Given the description of an element on the screen output the (x, y) to click on. 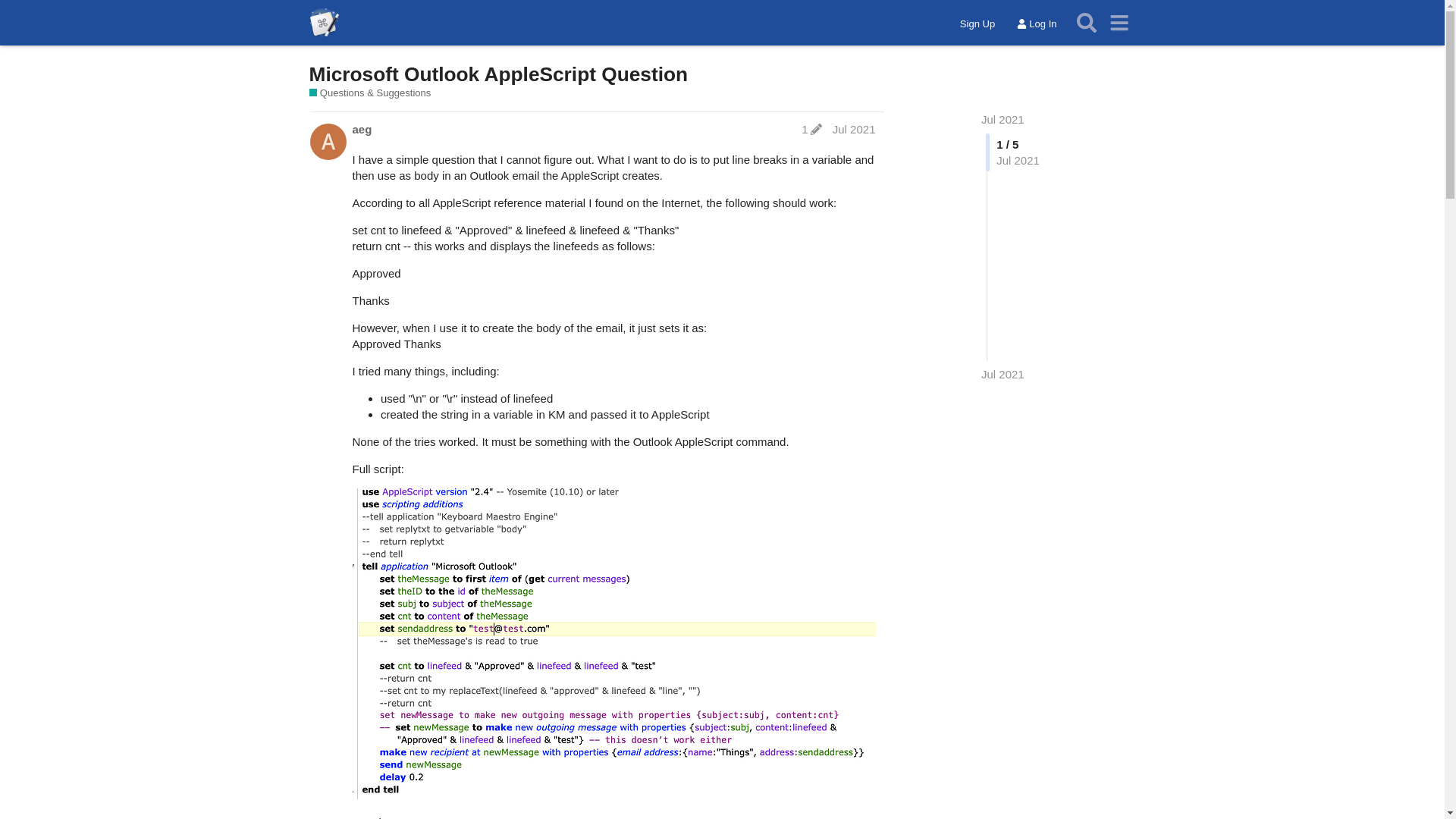
Microsoft Outlook AppleScript Question (498, 74)
Log In (1036, 24)
Jul 2021 (1003, 119)
Post date (854, 128)
1 (811, 128)
Jul 20, 2021 12:00 am (1003, 373)
Jul 2021 (854, 128)
post last edited on Jul 20, 2021 3:18 am (811, 128)
Jul 2021 (1003, 119)
